Given the description of an element on the screen output the (x, y) to click on. 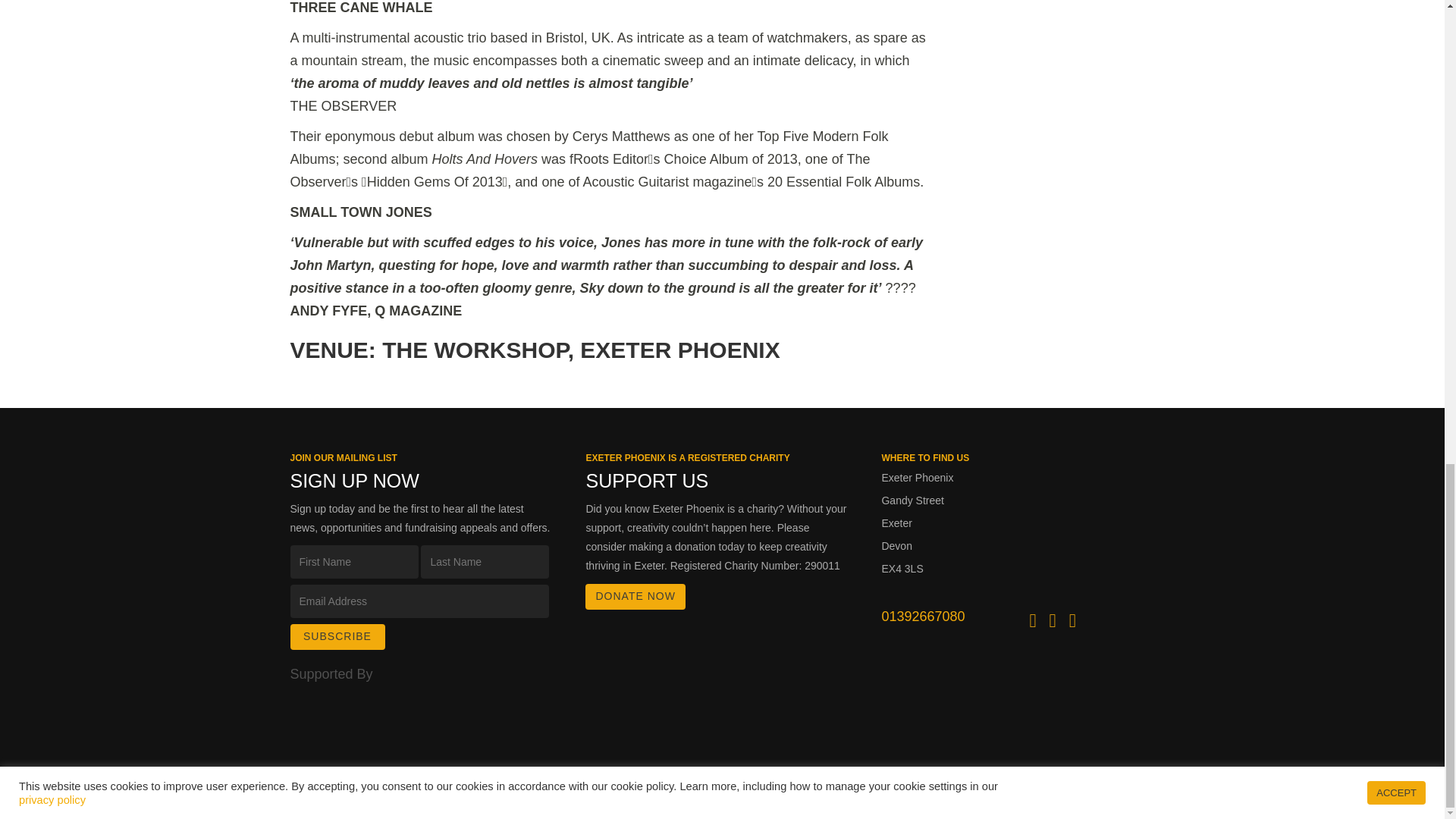
Subscribe (336, 637)
